Given the description of an element on the screen output the (x, y) to click on. 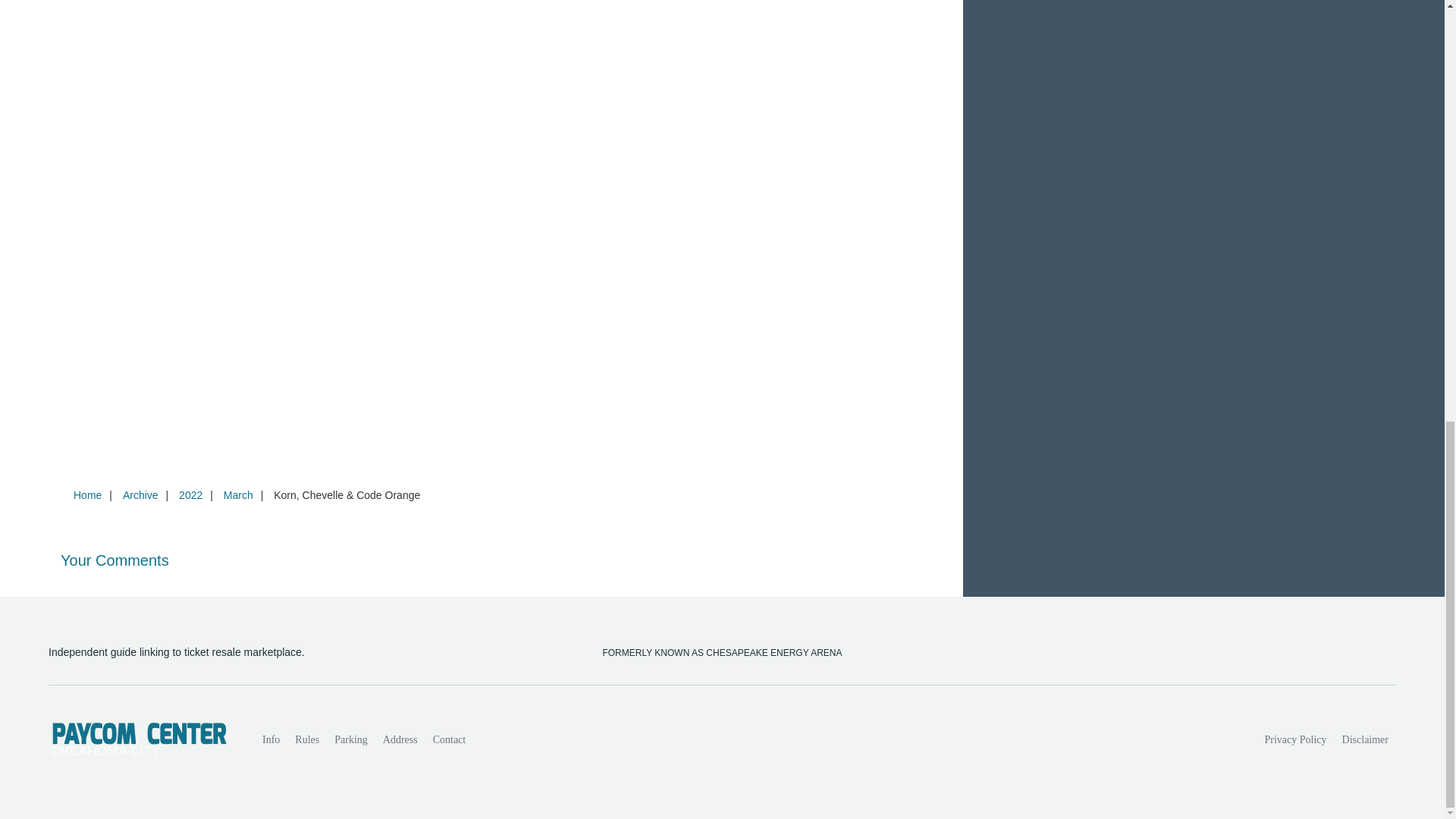
Archive (140, 494)
Info (270, 739)
Rules (306, 739)
March (237, 494)
Privacy Policy (1296, 739)
Contact (449, 739)
Home (87, 494)
Disclaimer (1365, 739)
2022 (190, 494)
Address (400, 739)
Parking (350, 739)
